Given the description of an element on the screen output the (x, y) to click on. 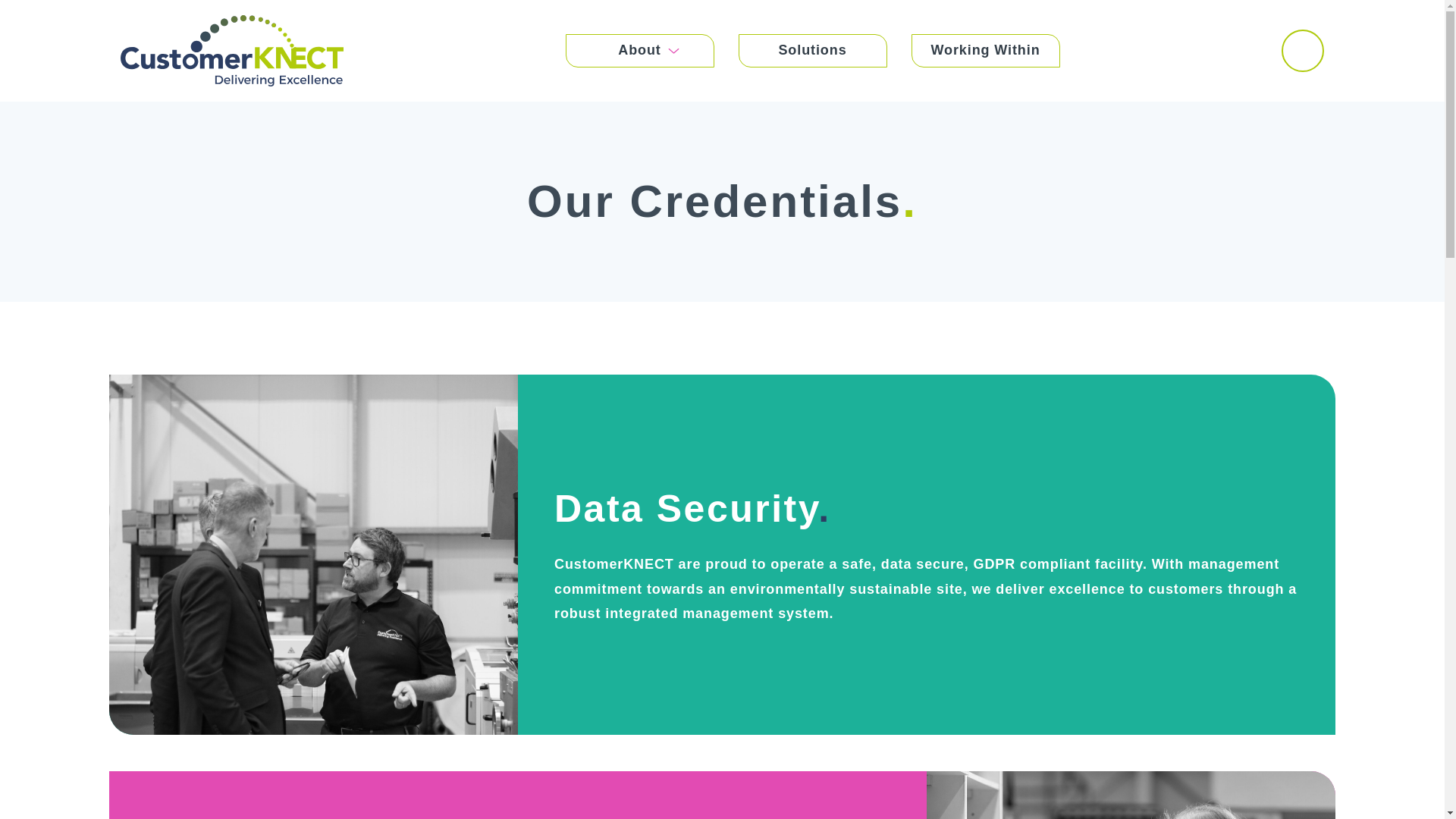
Solutions (812, 50)
CustomerKNECT (231, 50)
Working Within (985, 50)
About (640, 50)
